Given the description of an element on the screen output the (x, y) to click on. 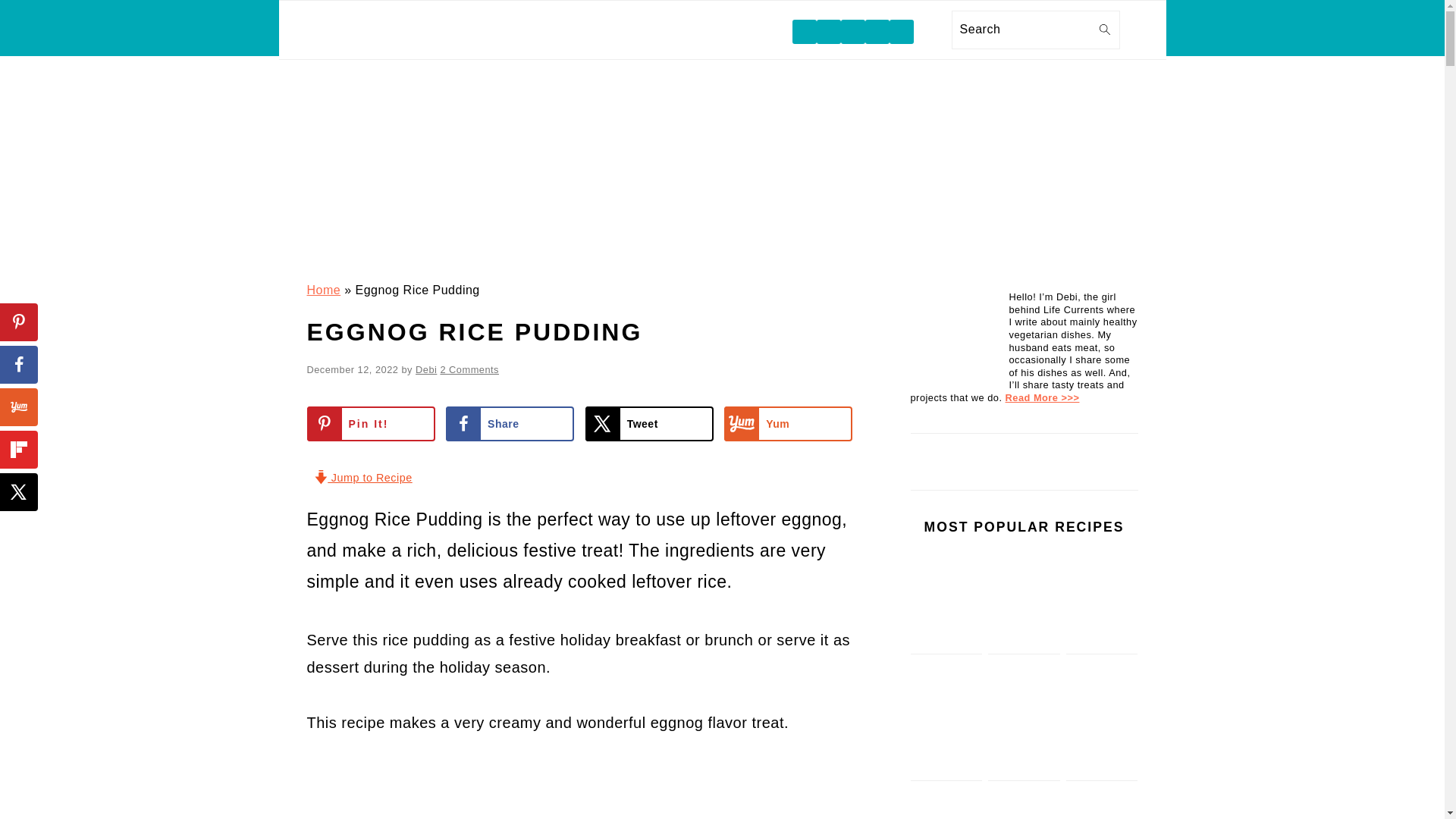
2 Comments (469, 369)
Yum (787, 423)
Debi (425, 369)
Share (509, 423)
Tweet (649, 423)
Share on X (649, 423)
Jump to Recipe (362, 478)
Save to Pinterest (369, 423)
SUBSCRIBE (716, 29)
BROWSE RECIPES (571, 29)
Share on Facebook (509, 423)
ABOUT (444, 29)
